Given the description of an element on the screen output the (x, y) to click on. 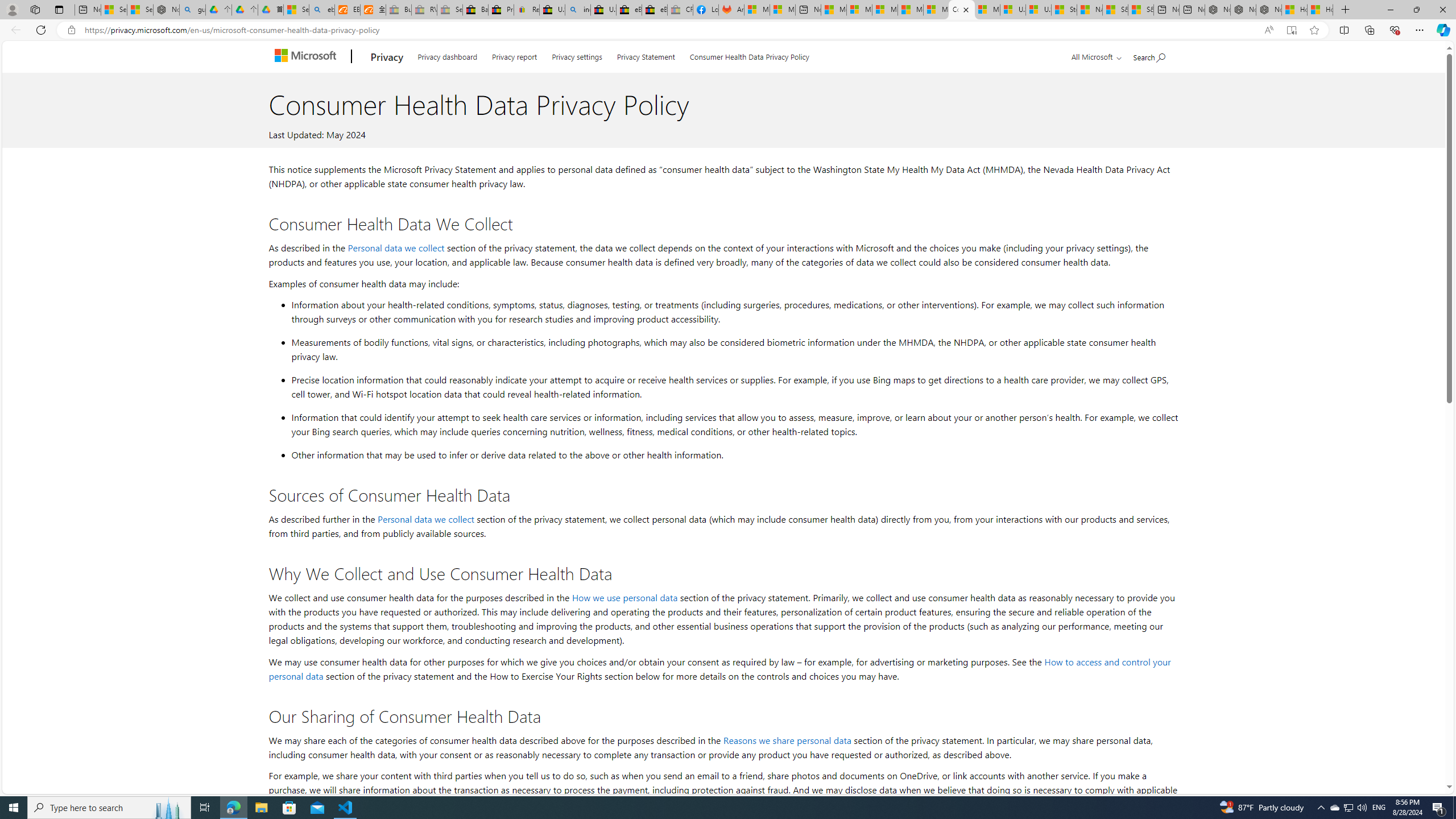
Privacy settings (576, 54)
Enter Immersive Reader (F9) (1291, 29)
Consumer Health Data Privacy Policy (961, 9)
Search Microsoft.com (1149, 54)
Consumer Health Data Privacy Policy (748, 54)
U.S. State Privacy Disclosures - eBay Inc. (603, 9)
